Given the description of an element on the screen output the (x, y) to click on. 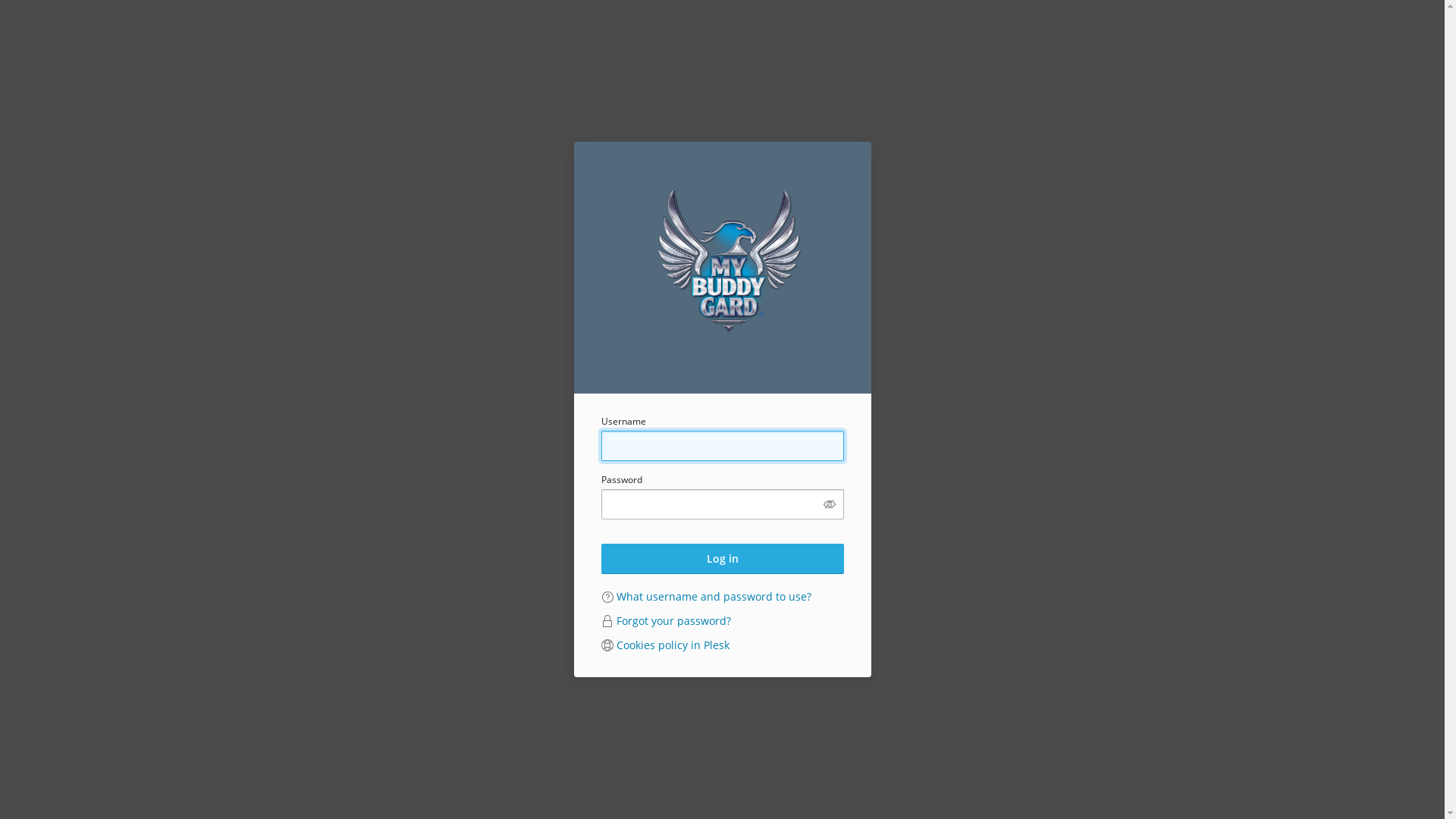
What username and password to use? Element type: text (712, 596)
Log in Element type: text (721, 558)
Forgot your password? Element type: text (672, 620)
Cookies policy in Plesk Element type: text (671, 644)
